Given the description of an element on the screen output the (x, y) to click on. 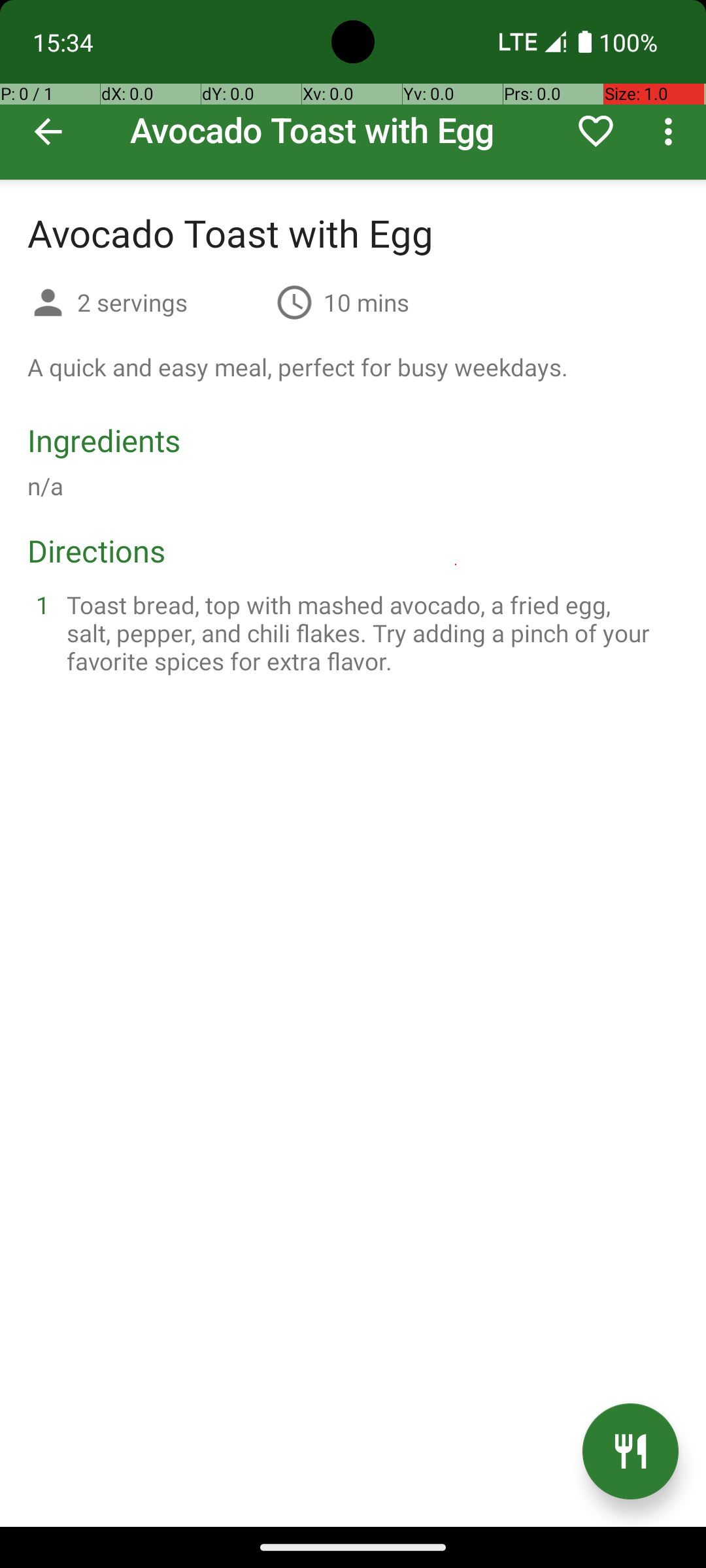
Toast bread, top with mashed avocado, a fried egg, salt, pepper, and chili flakes. Try adding a pinch of your favorite spices for extra flavor. Element type: android.widget.TextView (368, 632)
